Given the description of an element on the screen output the (x, y) to click on. 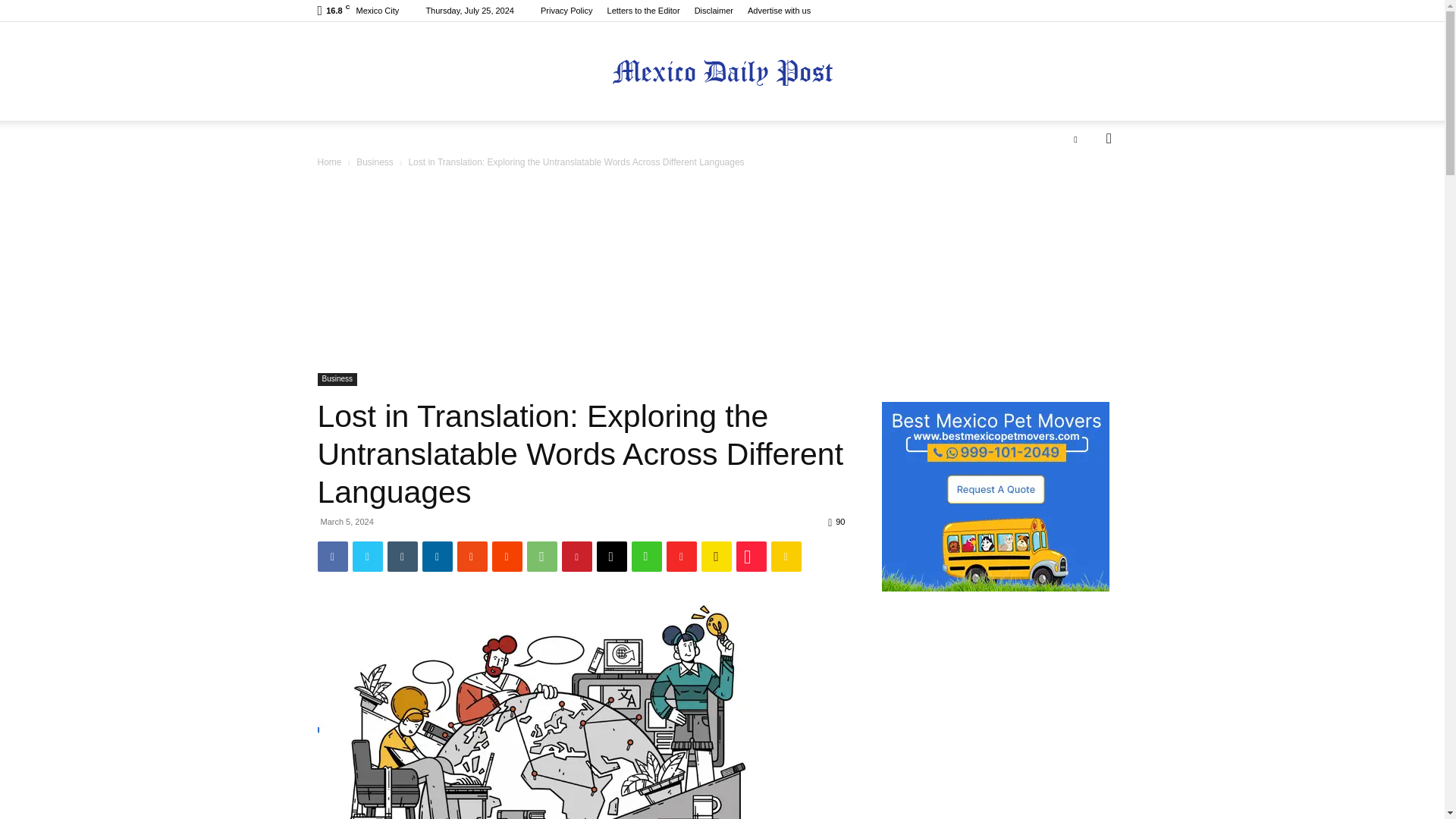
ReddIt (506, 556)
Twitter (366, 556)
Business (374, 162)
Digg (610, 556)
Disclaimer (713, 10)
Naver (645, 556)
Linkedin (436, 556)
Letters to the Editor (643, 10)
Business (336, 379)
Home (328, 162)
Pinterest (575, 556)
Facebook (332, 556)
Privacy Policy (566, 10)
WhatsApp (540, 556)
Advertise with us (779, 10)
